Given the description of an element on the screen output the (x, y) to click on. 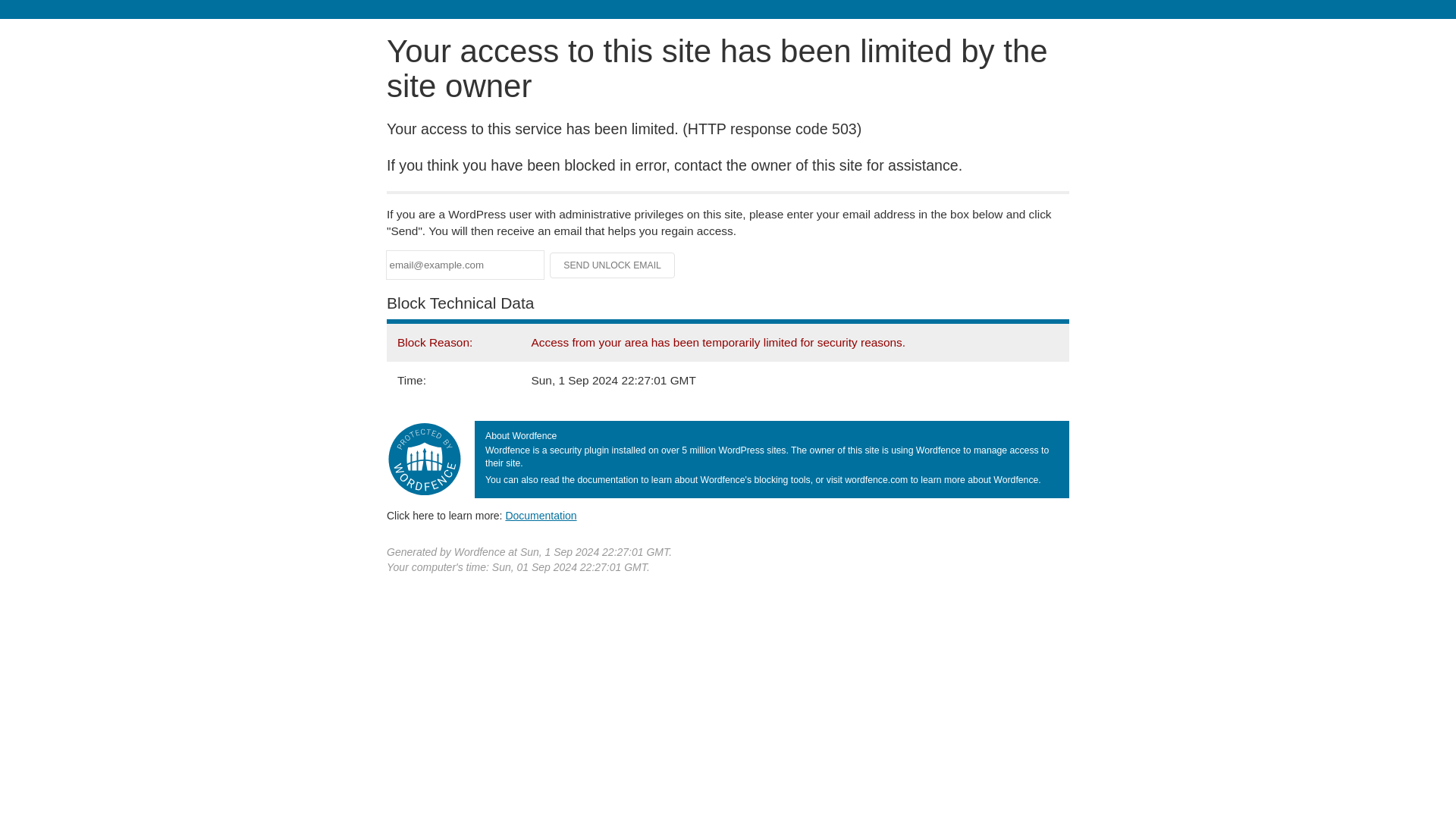
Send Unlock Email (612, 265)
Documentation (540, 515)
Send Unlock Email (612, 265)
